Given the description of an element on the screen output the (x, y) to click on. 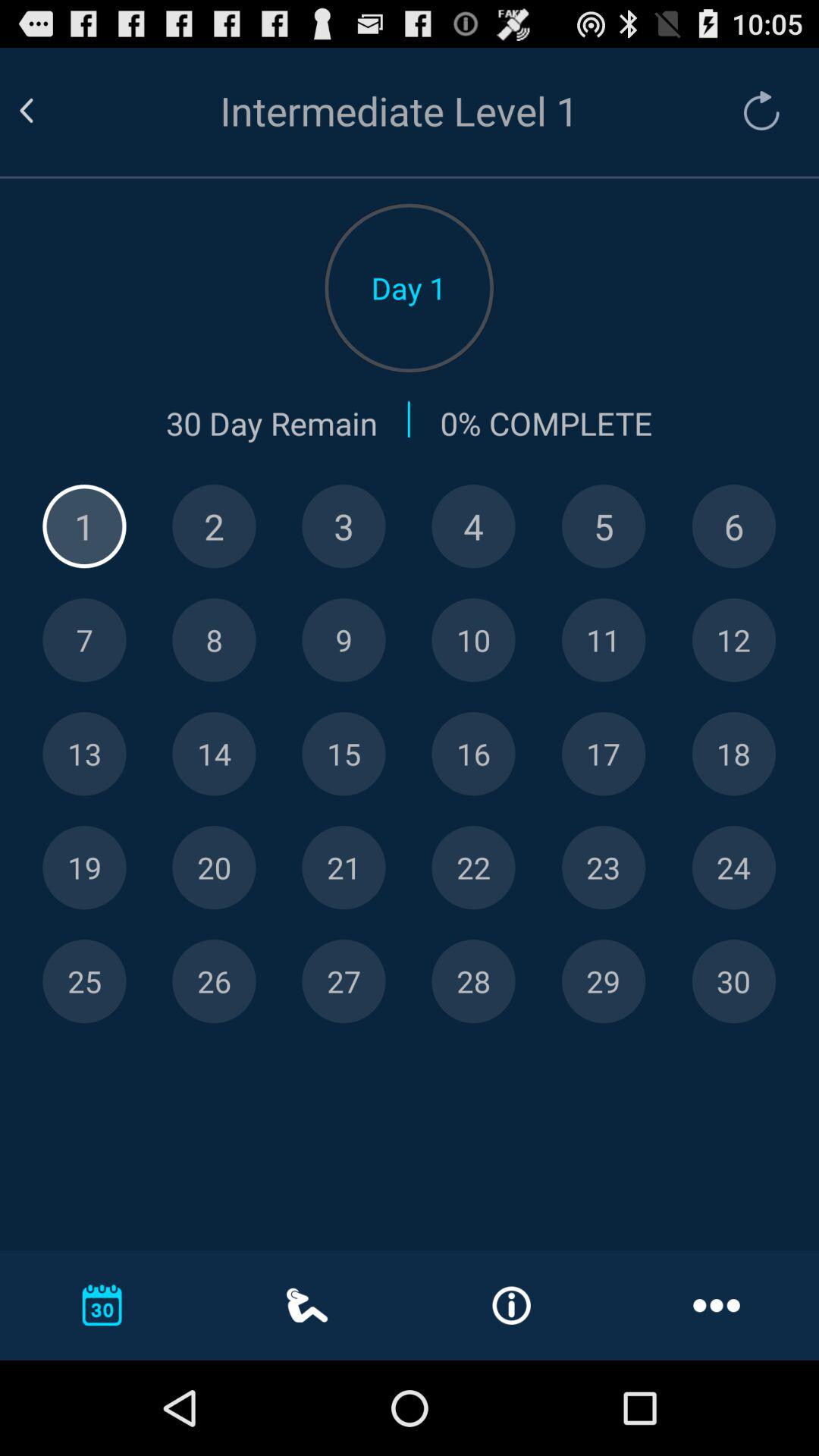
show details of day (213, 526)
